Given the description of an element on the screen output the (x, y) to click on. 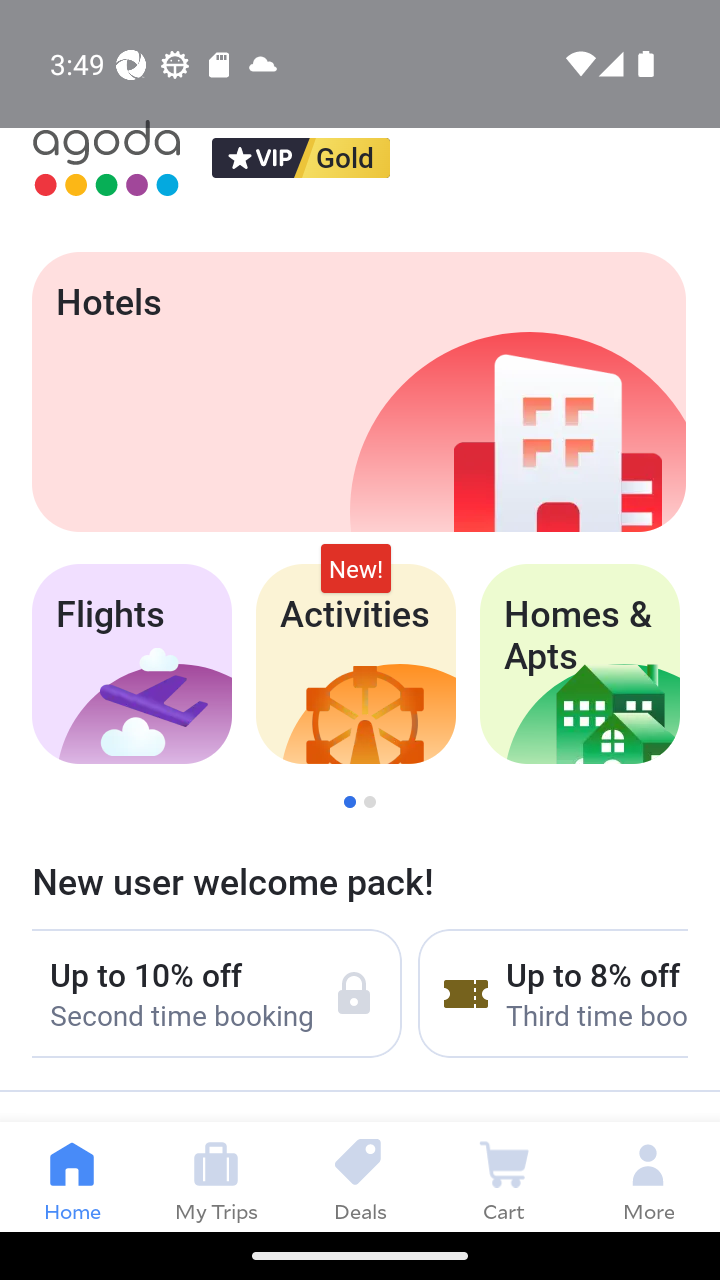
Hotels (358, 392)
New! (355, 568)
Flights (131, 664)
Activities (355, 664)
Homes & Apts (579, 664)
Home (72, 1176)
My Trips (216, 1176)
Deals (360, 1176)
Cart (504, 1176)
More (648, 1176)
